Given the description of an element on the screen output the (x, y) to click on. 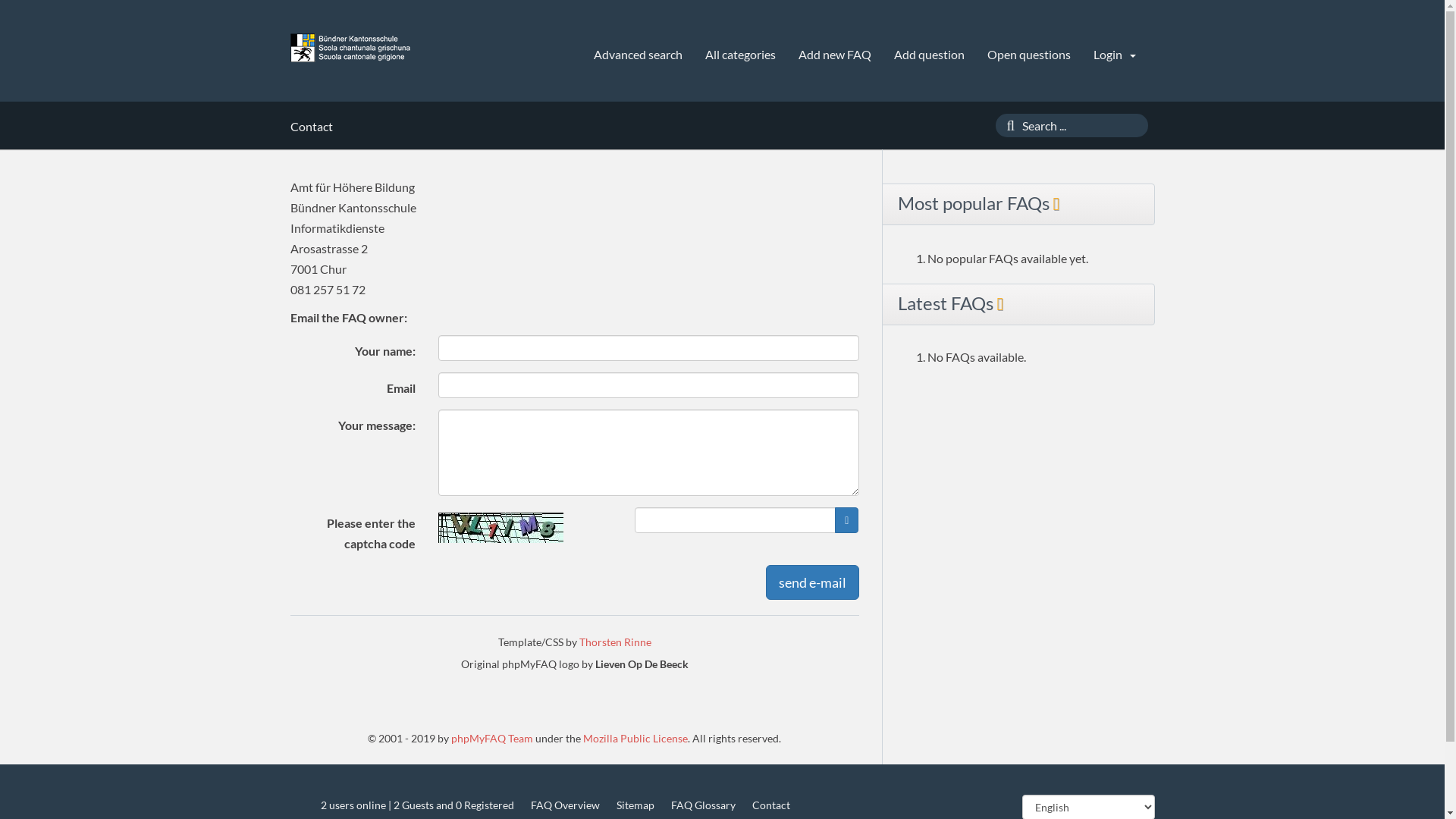
Login Element type: text (1114, 54)
Contact Element type: text (771, 804)
Open questions Element type: text (1028, 54)
FAQ Glossary Element type: text (702, 804)
Advanced search Element type: text (637, 54)
FAQ Overview Element type: text (564, 804)
Thorsten Rinne Element type: text (615, 642)
Add new FAQ Element type: text (834, 54)
Add question Element type: text (928, 54)
send e-mail Element type: text (812, 581)
Mozilla Public License Element type: text (635, 738)
Sitemap Element type: text (634, 804)
phpMyFAQ Team Element type: text (492, 738)
All categories Element type: text (740, 54)
click to refresh Element type: hover (500, 527)
